Given the description of an element on the screen output the (x, y) to click on. 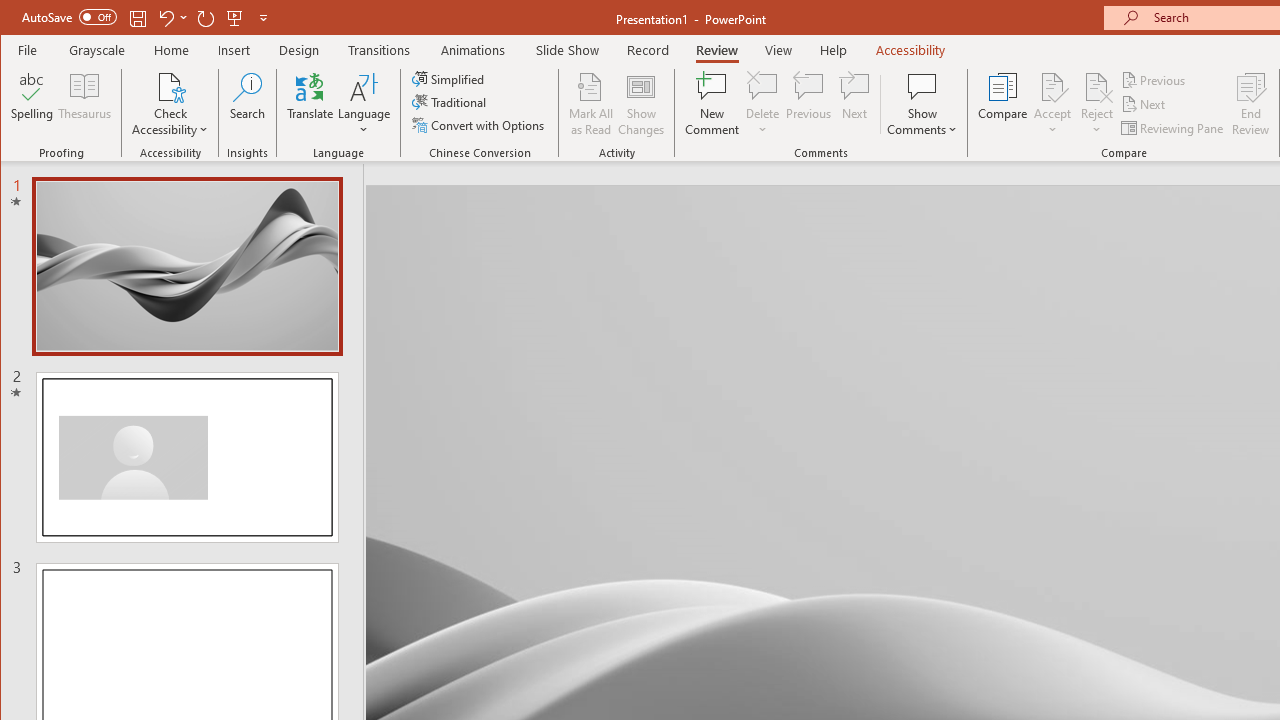
Compare (1002, 104)
Accept Change (1052, 86)
Grayscale (97, 50)
End Review (1251, 104)
Translate (310, 104)
Reviewing Pane (1173, 127)
Reject (1096, 104)
